Given the description of an element on the screen output the (x, y) to click on. 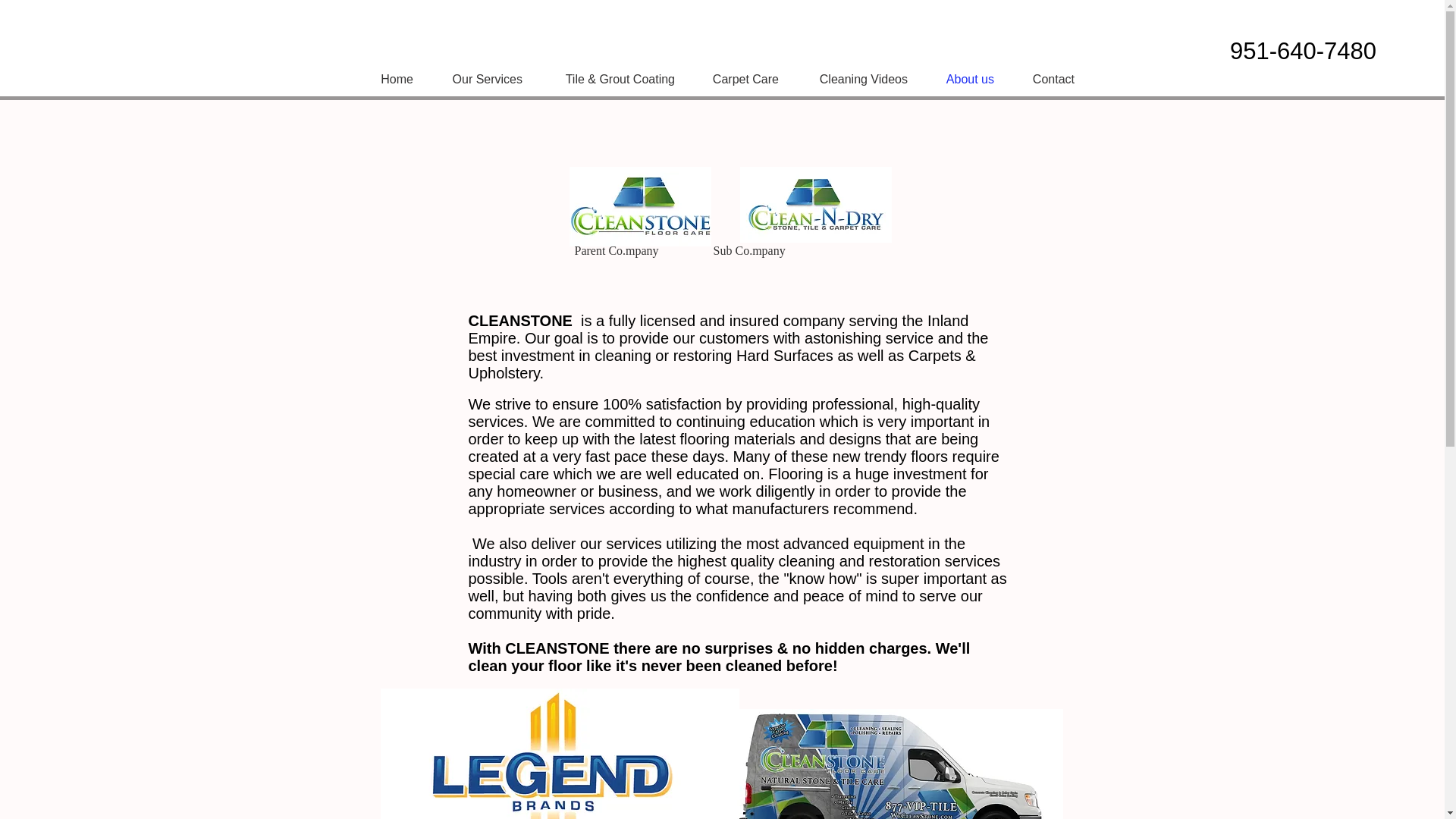
Carpet Care (737, 78)
About us (962, 78)
Our Services (479, 78)
2012 NISSAN NV 3500 SV8 Passenger.jpg (889, 764)
Home (389, 78)
Cleaning Videos (854, 78)
Contact (1046, 78)
